Given the description of an element on the screen output the (x, y) to click on. 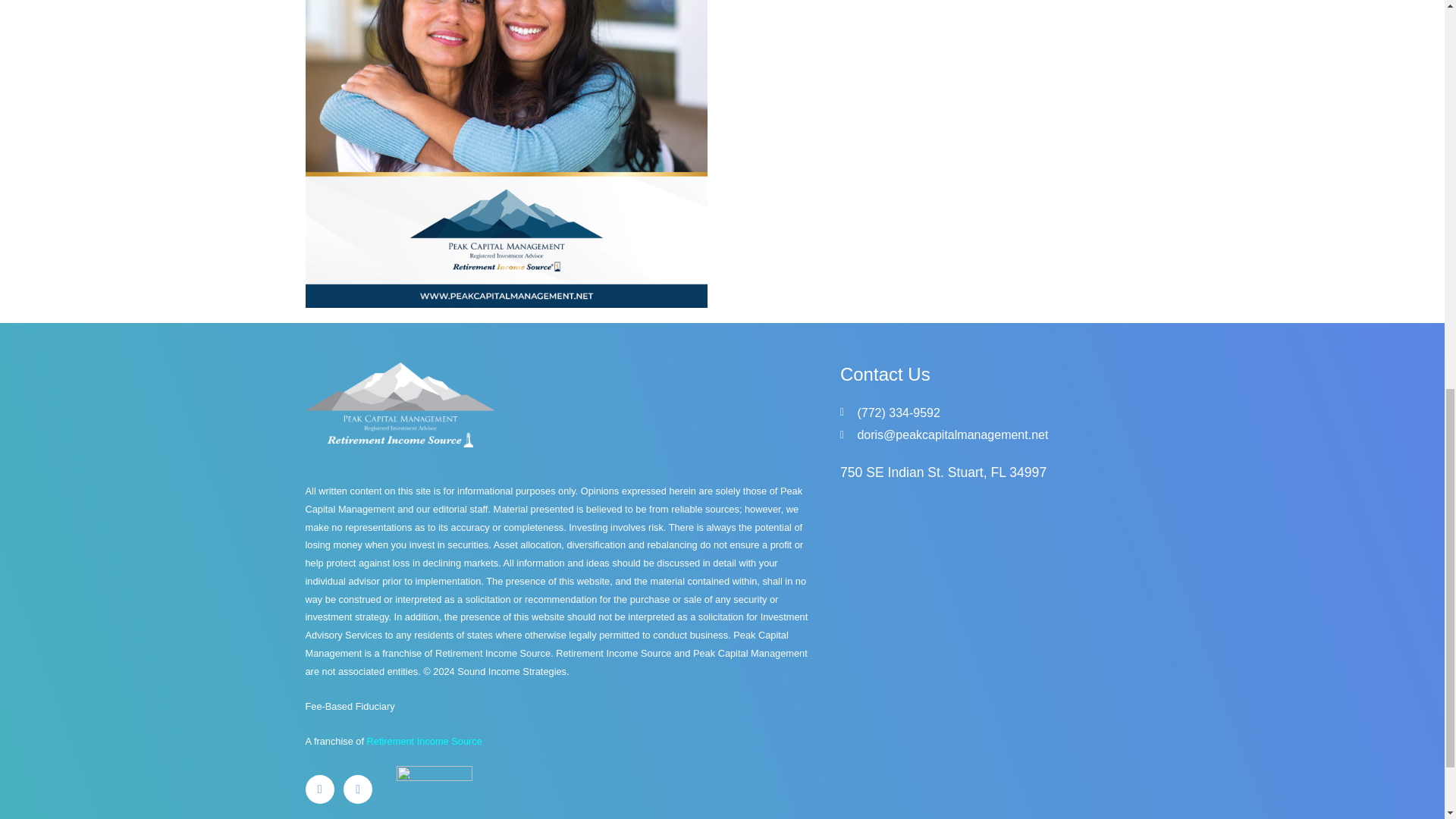
750 SE Indian St. Stuart, FL 34997 (990, 651)
